Given the description of an element on the screen output the (x, y) to click on. 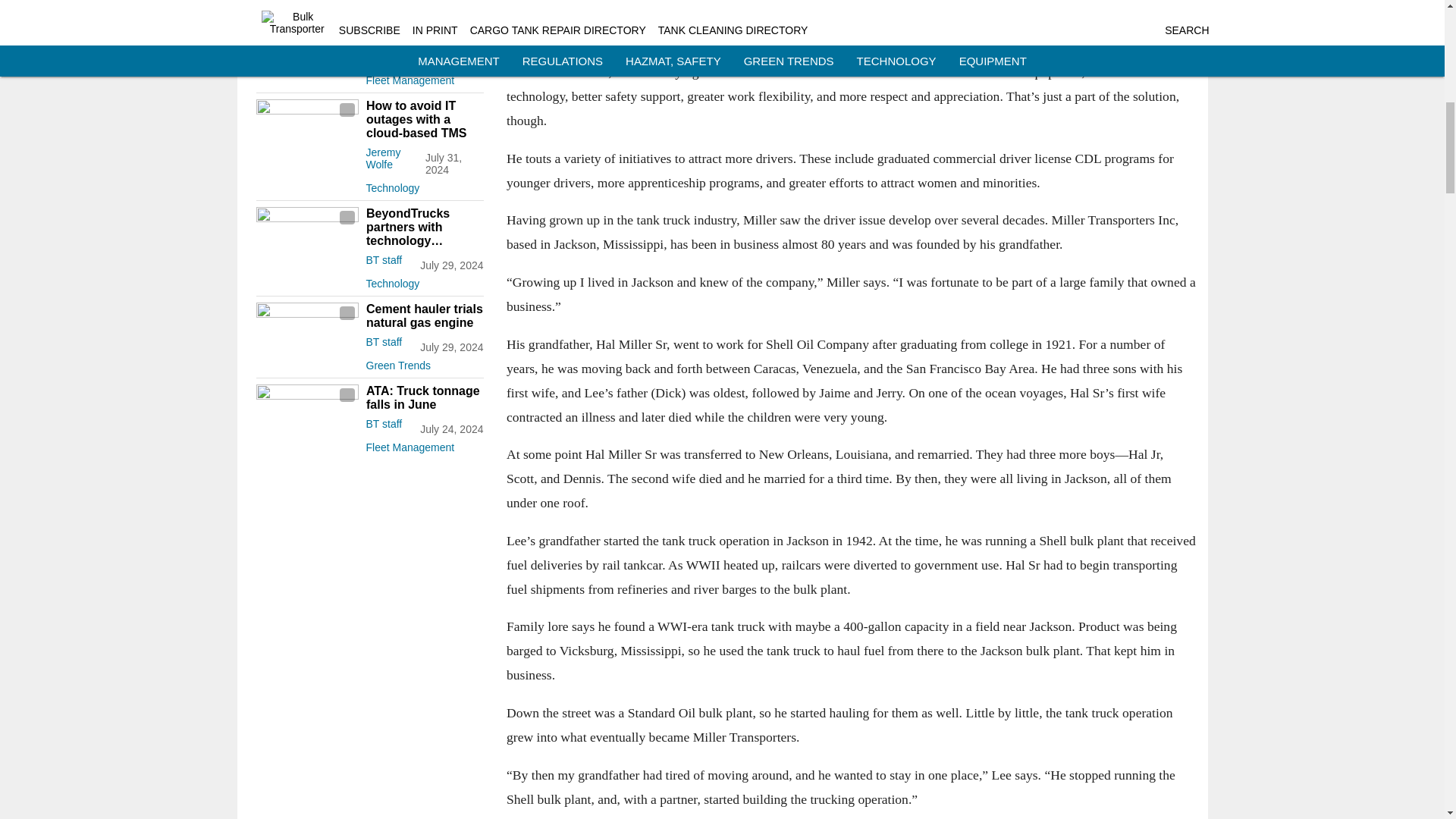
How to avoid IT outages with a cloud-based TMS (424, 119)
BT staff (383, 56)
Suttons expands Widnes depot in England (424, 24)
BT staff (383, 259)
Fleet Management (424, 76)
Technology (424, 280)
Technology (424, 185)
BeyondTrucks partners with technology integrator (424, 227)
Jeremy Wolfe (382, 158)
